Given the description of an element on the screen output the (x, y) to click on. 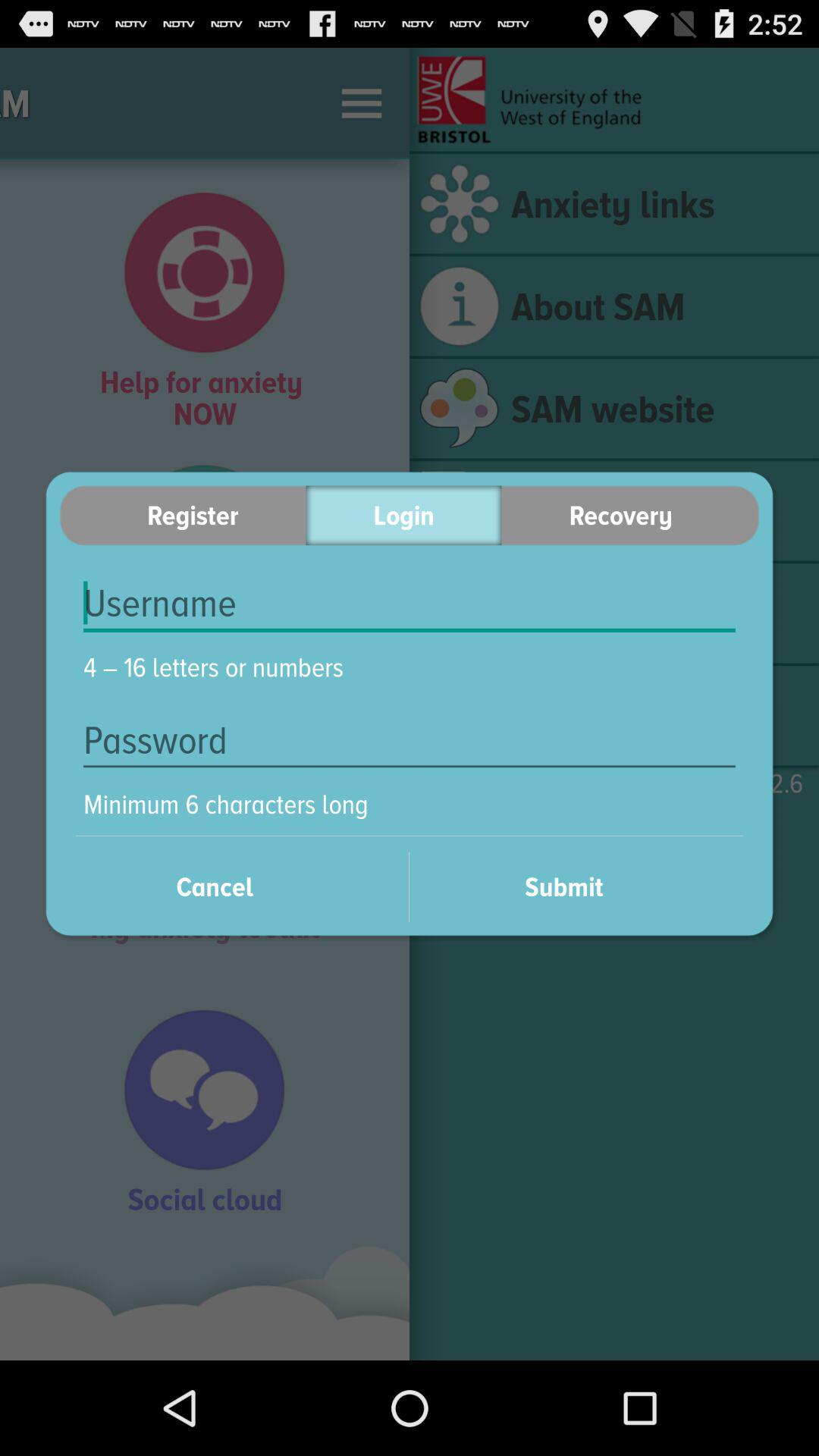
turn on the cancel (234, 886)
